Given the description of an element on the screen output the (x, y) to click on. 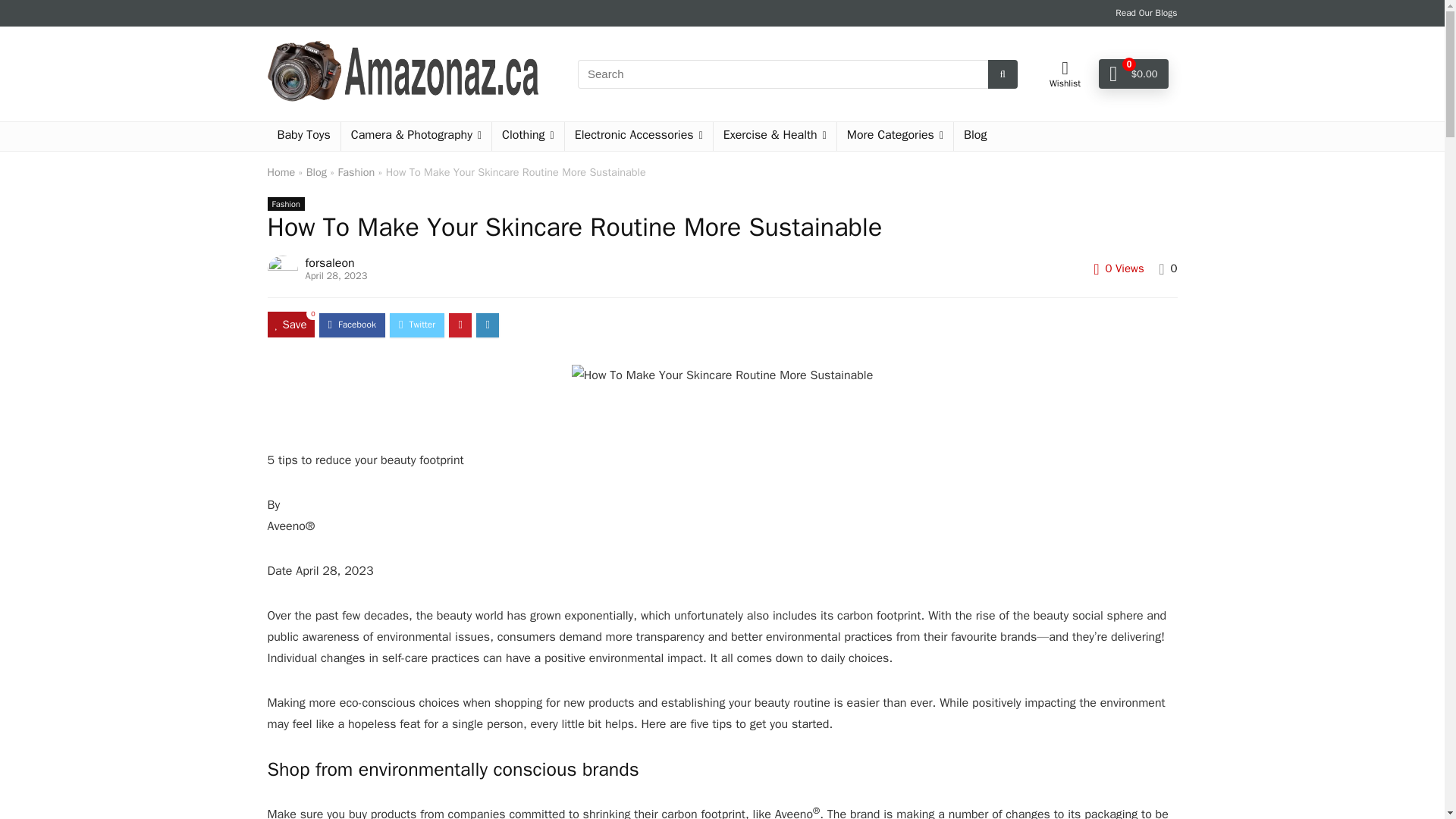
Electronic Accessories (638, 136)
Baby Toys (302, 136)
Blog (315, 172)
forsaleon (328, 263)
Read Our Blogs (1145, 12)
Fashion (355, 172)
Home (280, 172)
Blog (974, 136)
How To Make Your Skincare Routine More Sustainable (722, 374)
Fashion (285, 203)
Clothing (528, 136)
View all posts in Fashion (285, 203)
More Categories (895, 136)
